Given the description of an element on the screen output the (x, y) to click on. 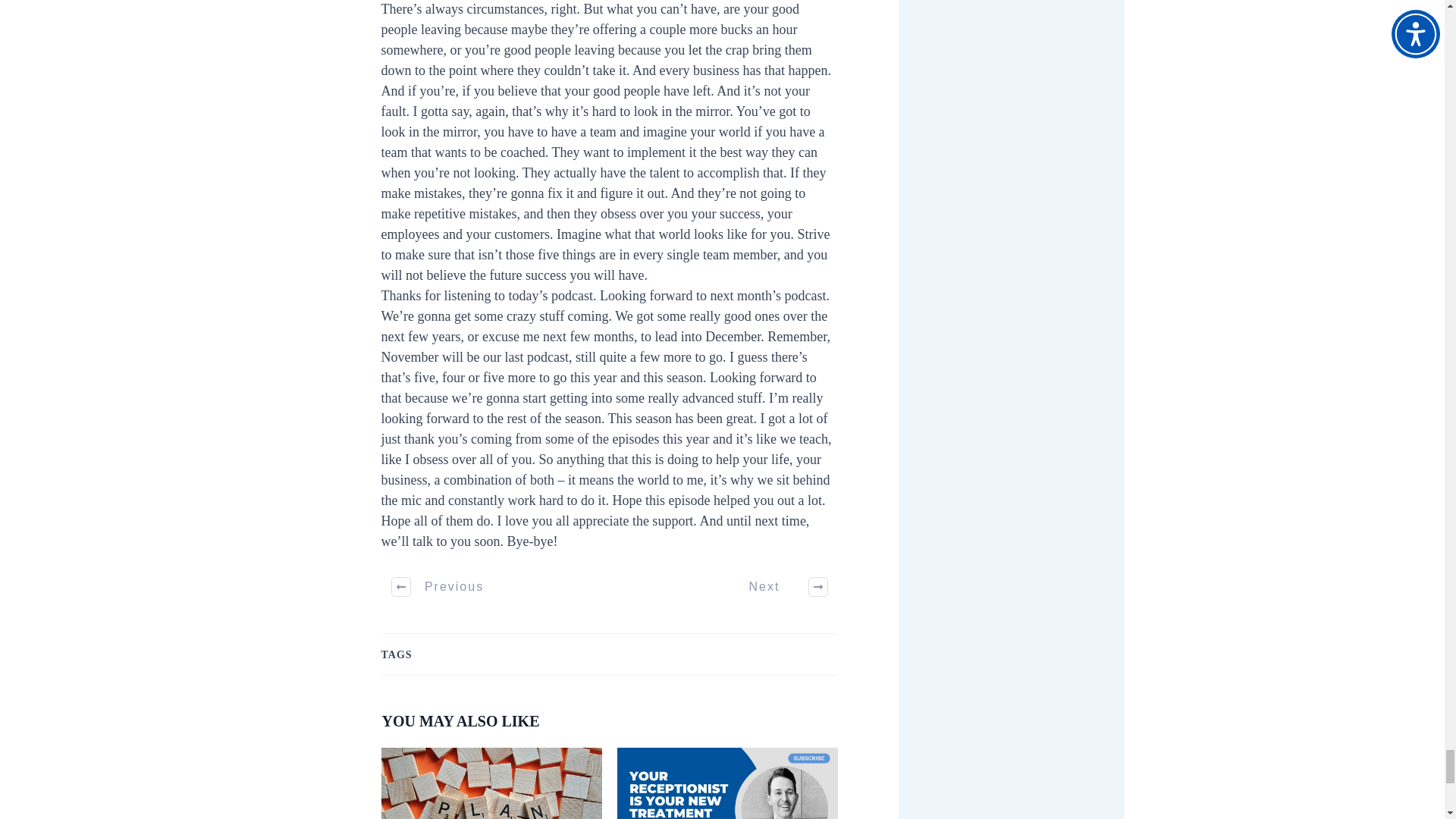
Why your Receptionist is your New Treatment Coordinator (727, 783)
Next (780, 587)
Previous (438, 587)
